Given the description of an element on the screen output the (x, y) to click on. 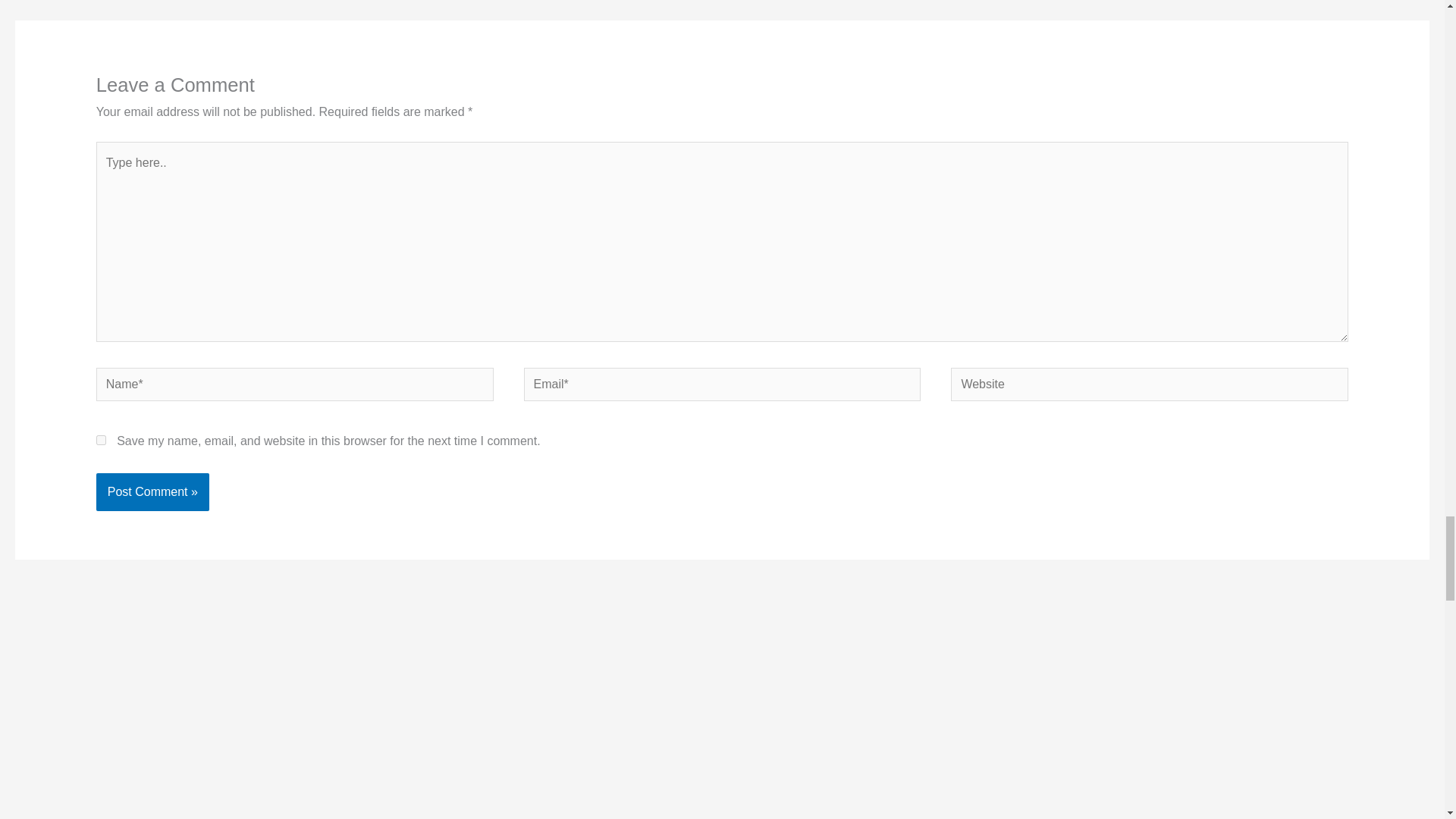
yes (101, 439)
